Given the description of an element on the screen output the (x, y) to click on. 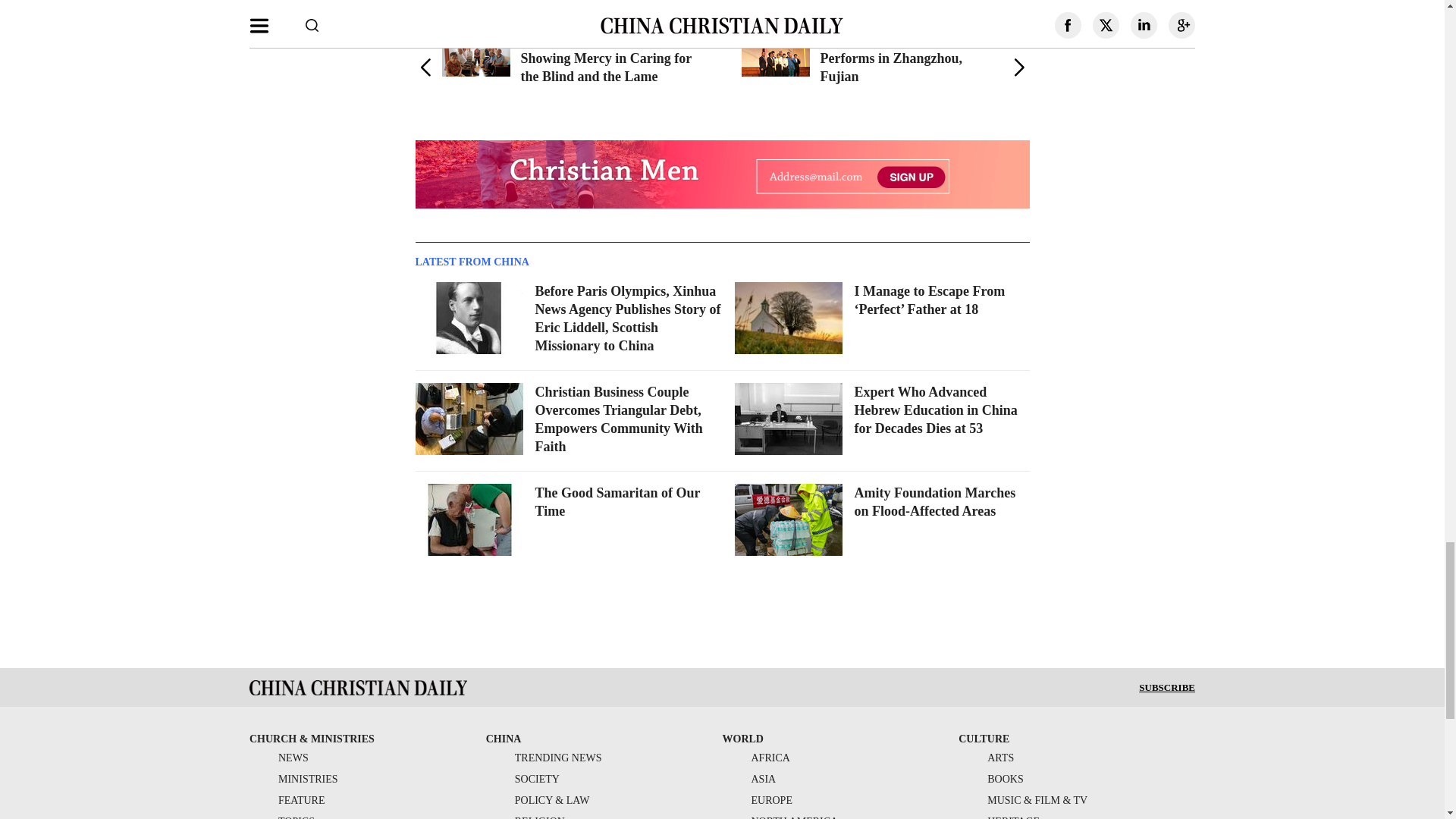
The Good Samaritan of Our Time (617, 501)
Christian Blind Art Troupe Performs in Zhangzhou, Fujian (900, 58)
MINISTRIES (292, 778)
TOPICS (281, 817)
Amity Foundation Marches on Flood-Affected Areas (933, 501)
NEWS (278, 757)
FEATURE (286, 799)
